Given the description of an element on the screen output the (x, y) to click on. 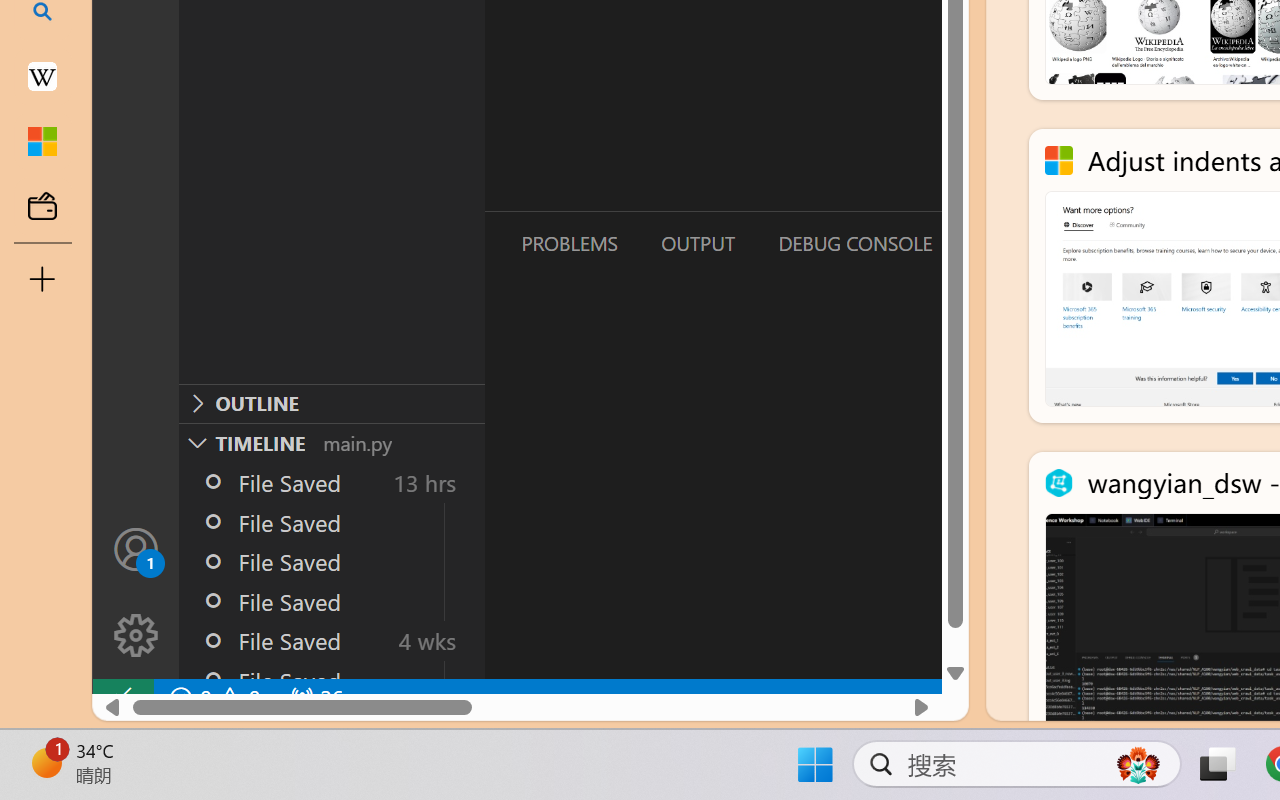
Accessibility Checker Accessibility: Investigate (395, 743)
Spell Check No Errors (95, 743)
